Given the description of an element on the screen output the (x, y) to click on. 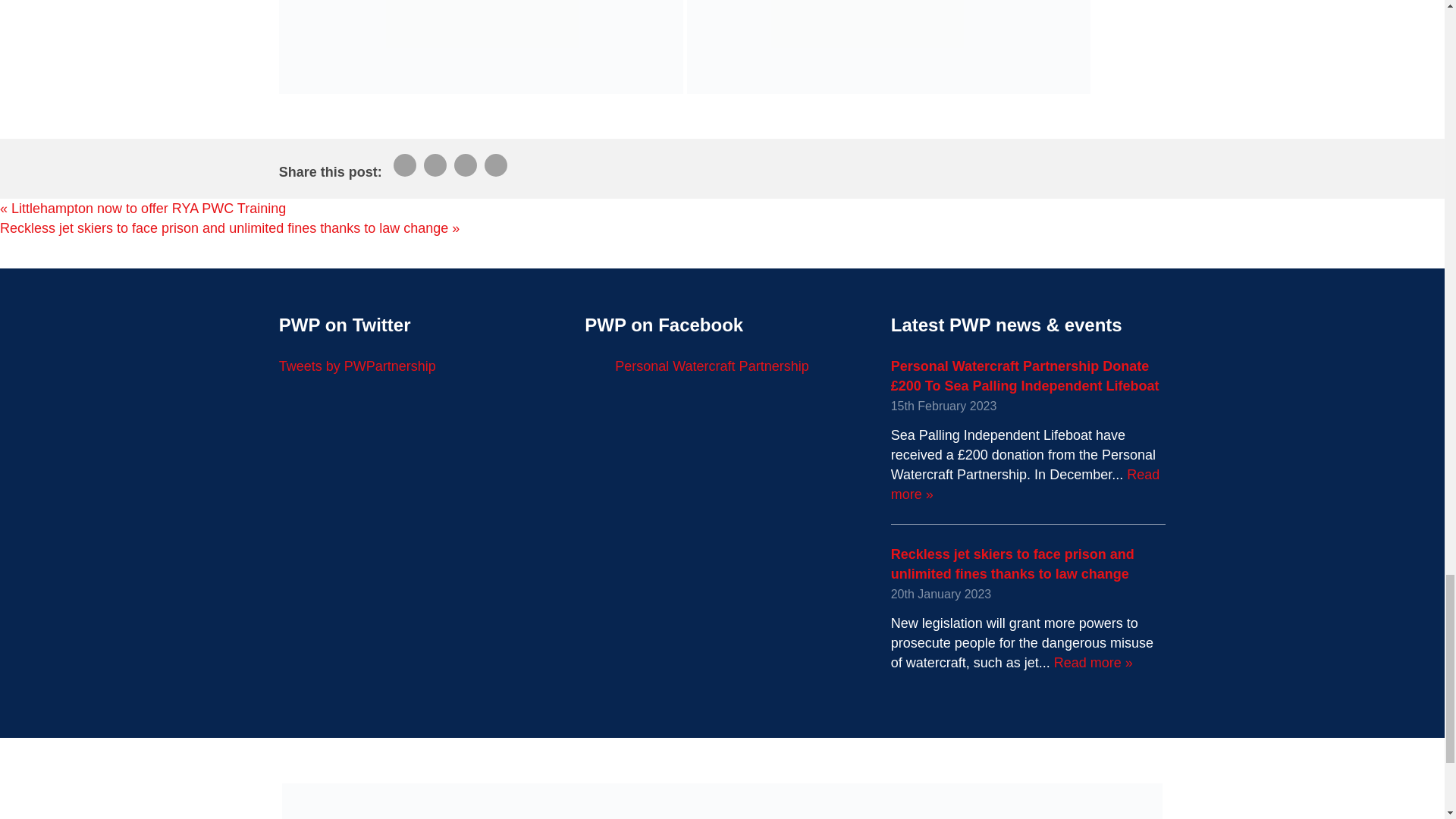
Tweets by PWPartnership (357, 365)
Personal Watercraft Partnership (711, 365)
